Given the description of an element on the screen output the (x, y) to click on. 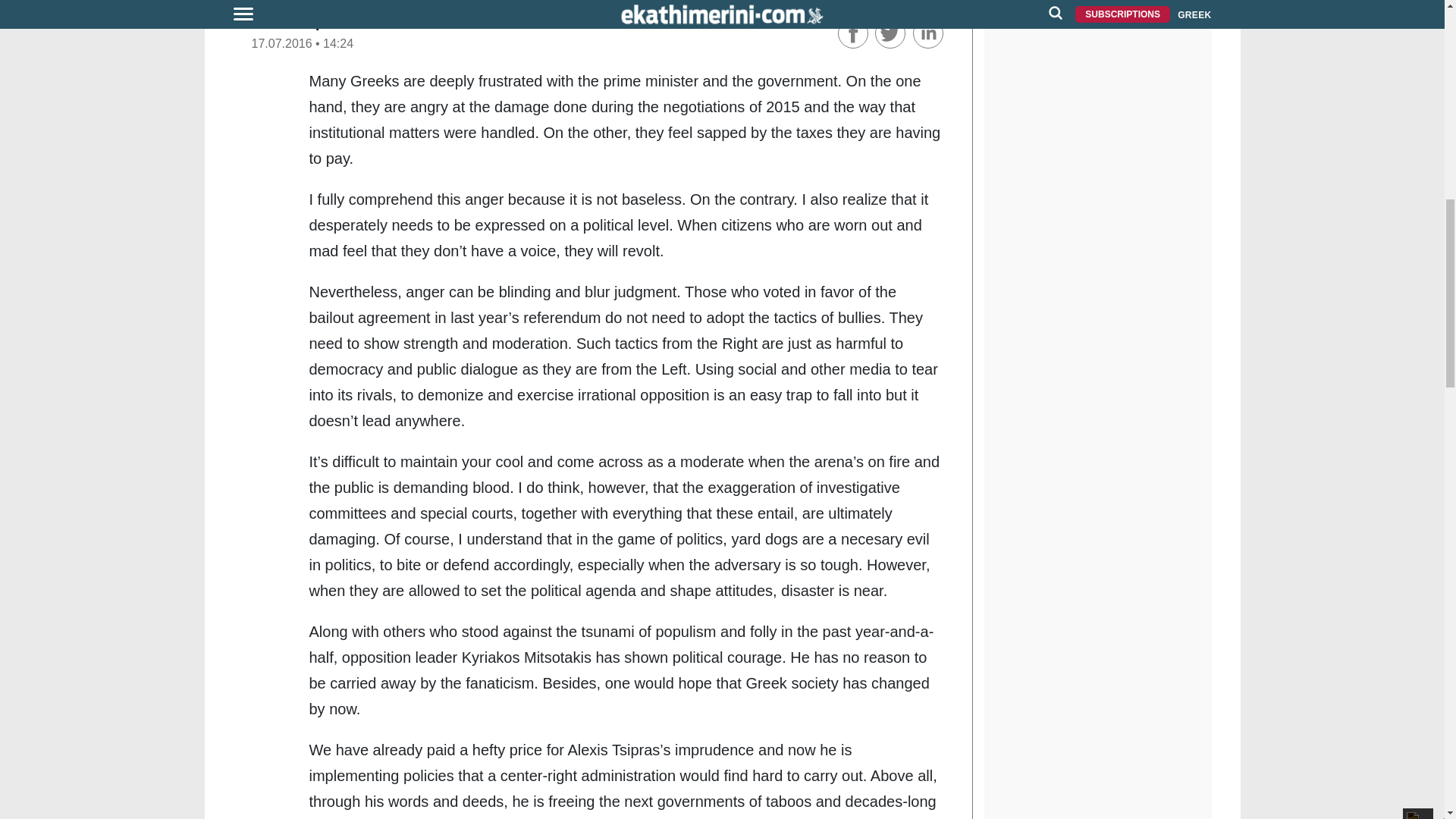
View all posts by Alexis Papachelas (314, 22)
